Given the description of an element on the screen output the (x, y) to click on. 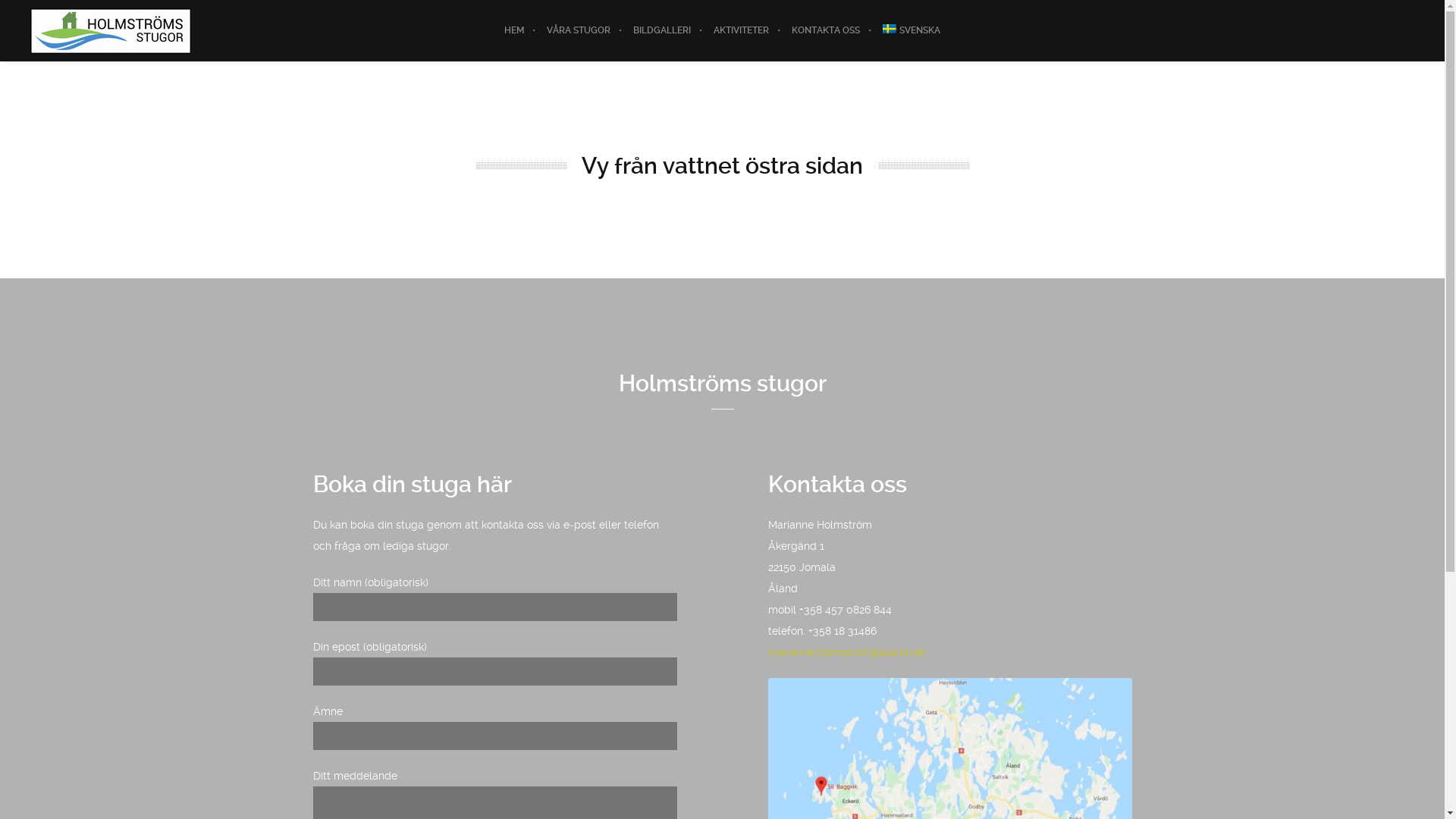
AKTIVITETER Element type: text (741, 30)
SVENSKA Element type: text (911, 30)
BILDGALLERI Element type: text (661, 30)
KONTAKTA OSS Element type: text (825, 30)
marianne.holmstrom@aland.net Element type: text (846, 652)
HEM Element type: text (513, 30)
